Given the description of an element on the screen output the (x, y) to click on. 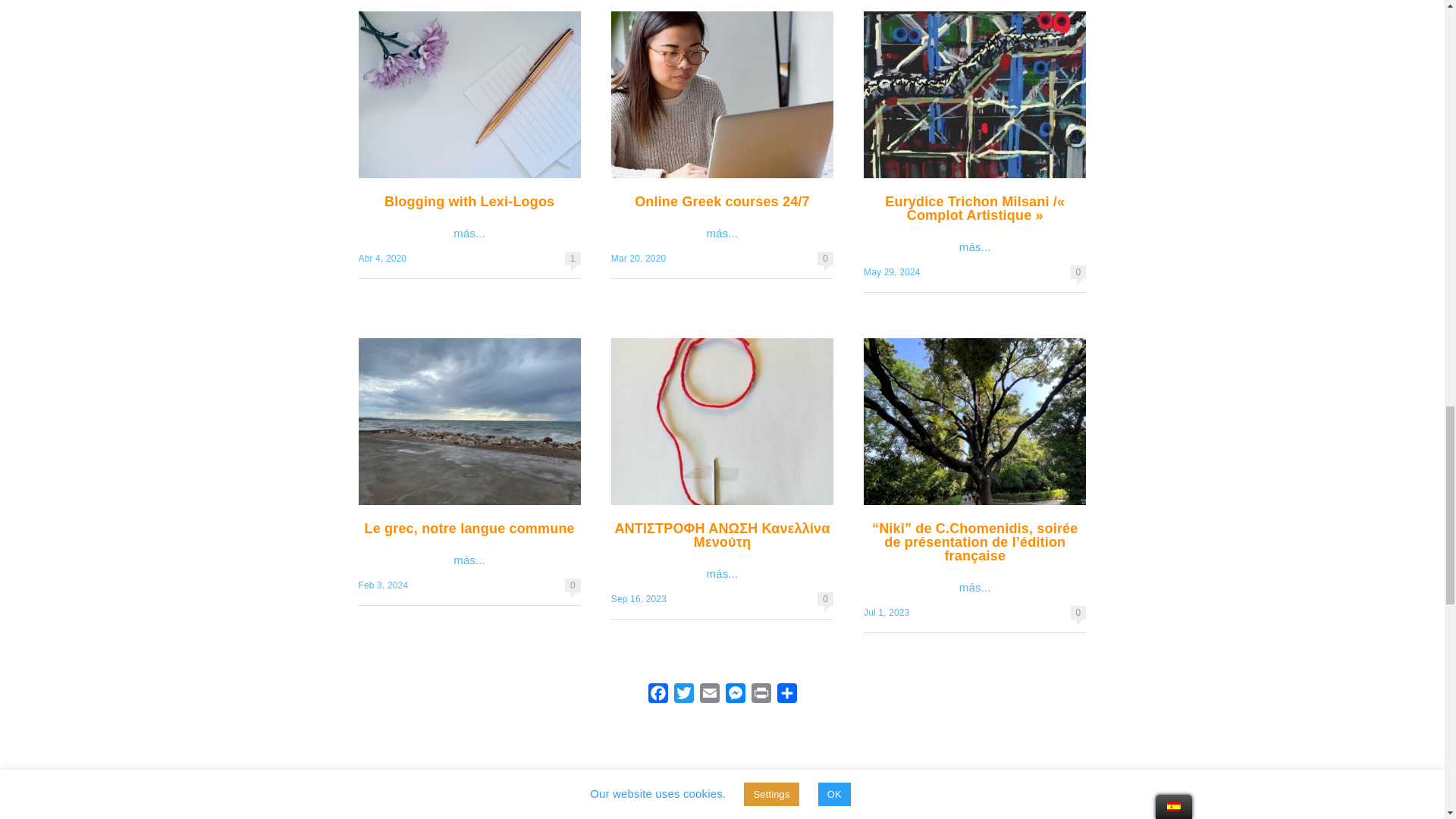
Permalink to Blogging with Lexi-Logos (382, 258)
Permalink to Le grec, notre langue commune (382, 584)
